Given the description of an element on the screen output the (x, y) to click on. 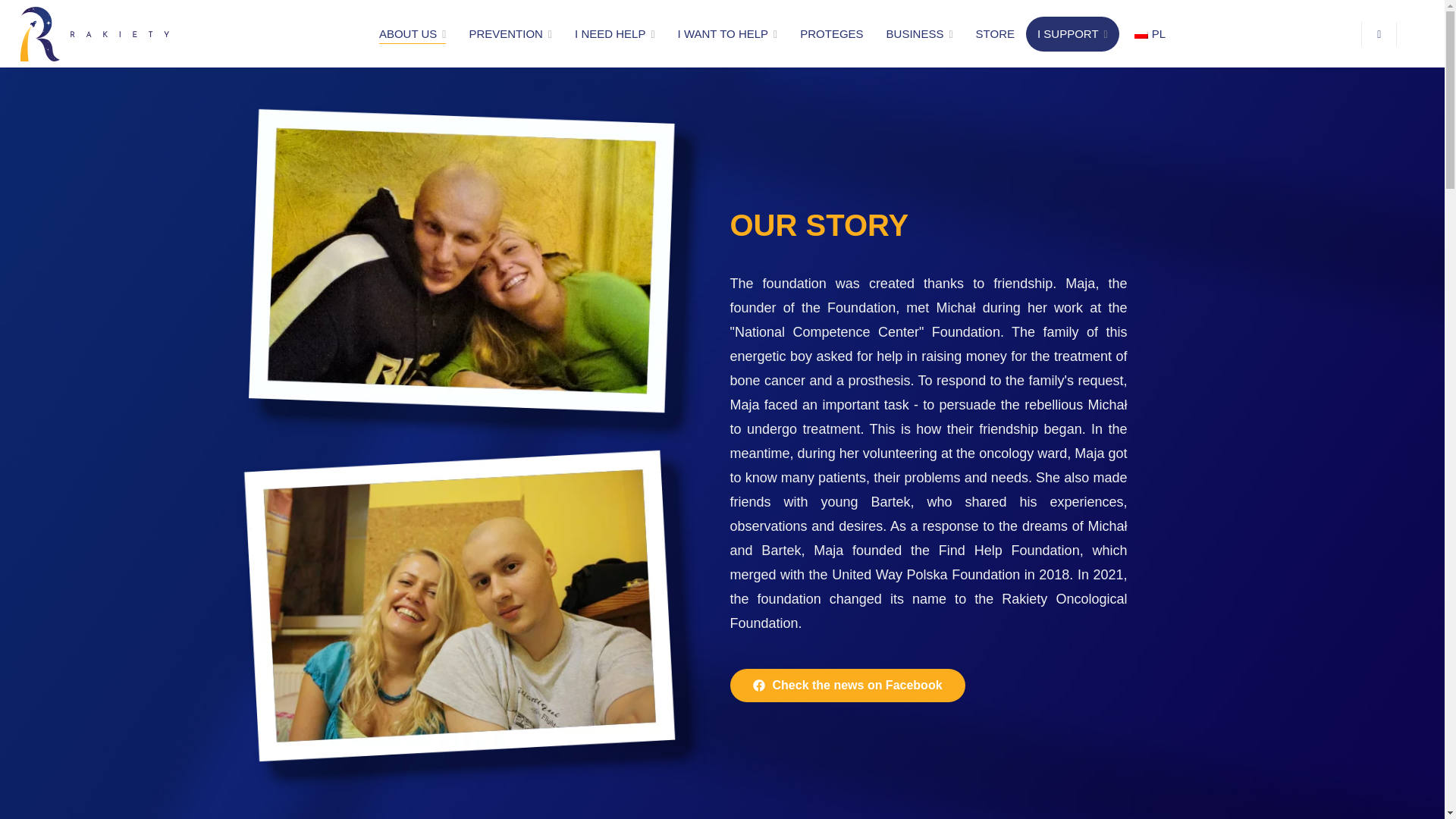
BUSINESS (919, 34)
Polski (1141, 33)
ABOUT US (413, 34)
PREVENTION (510, 34)
I WANT TO HELP (727, 34)
PROTEGES (832, 34)
I NEED HELP (614, 34)
